Given the description of an element on the screen output the (x, y) to click on. 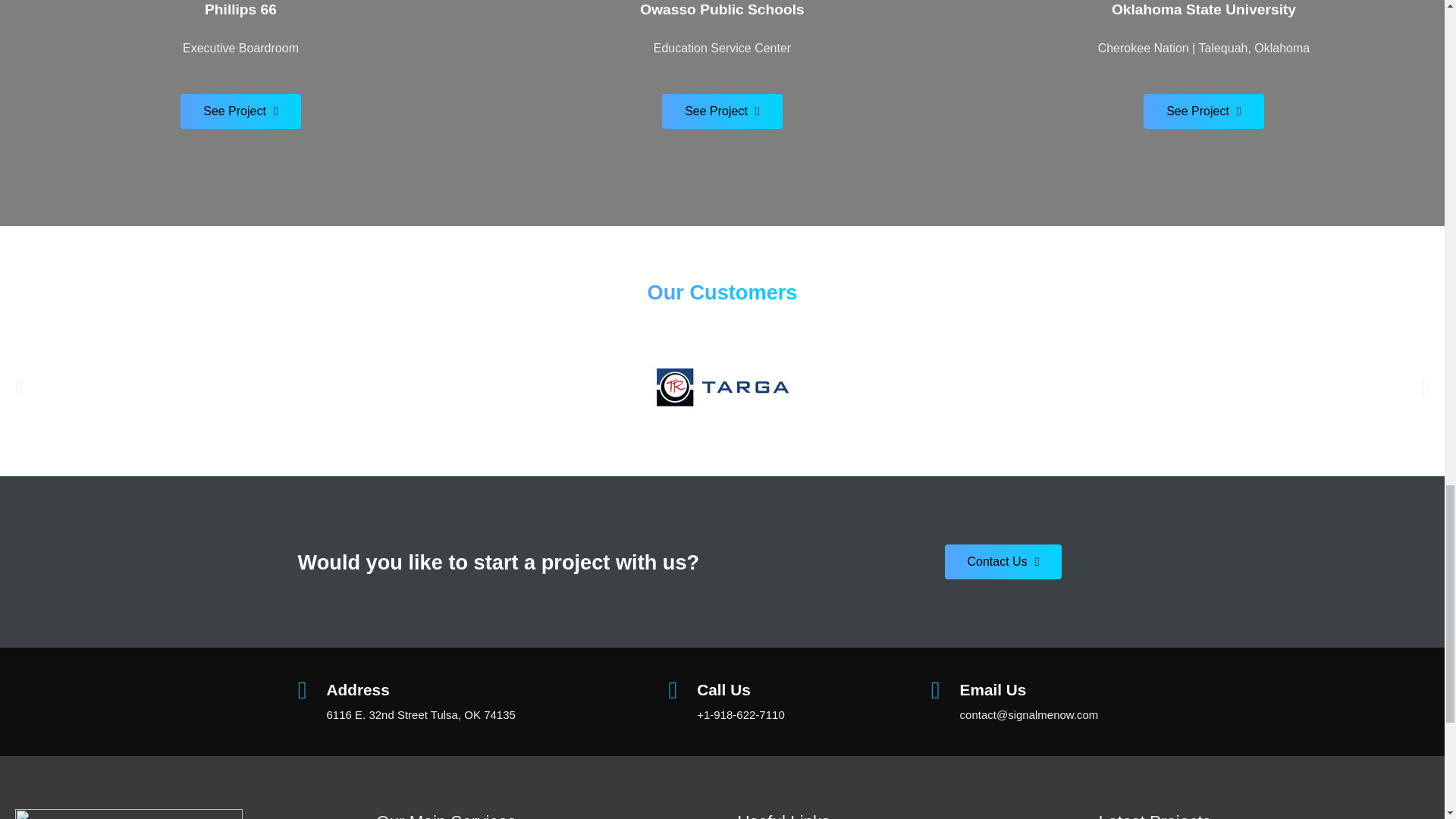
Contact Us (1003, 561)
See Project (240, 111)
See Project (1202, 111)
See Project (722, 111)
